Given the description of an element on the screen output the (x, y) to click on. 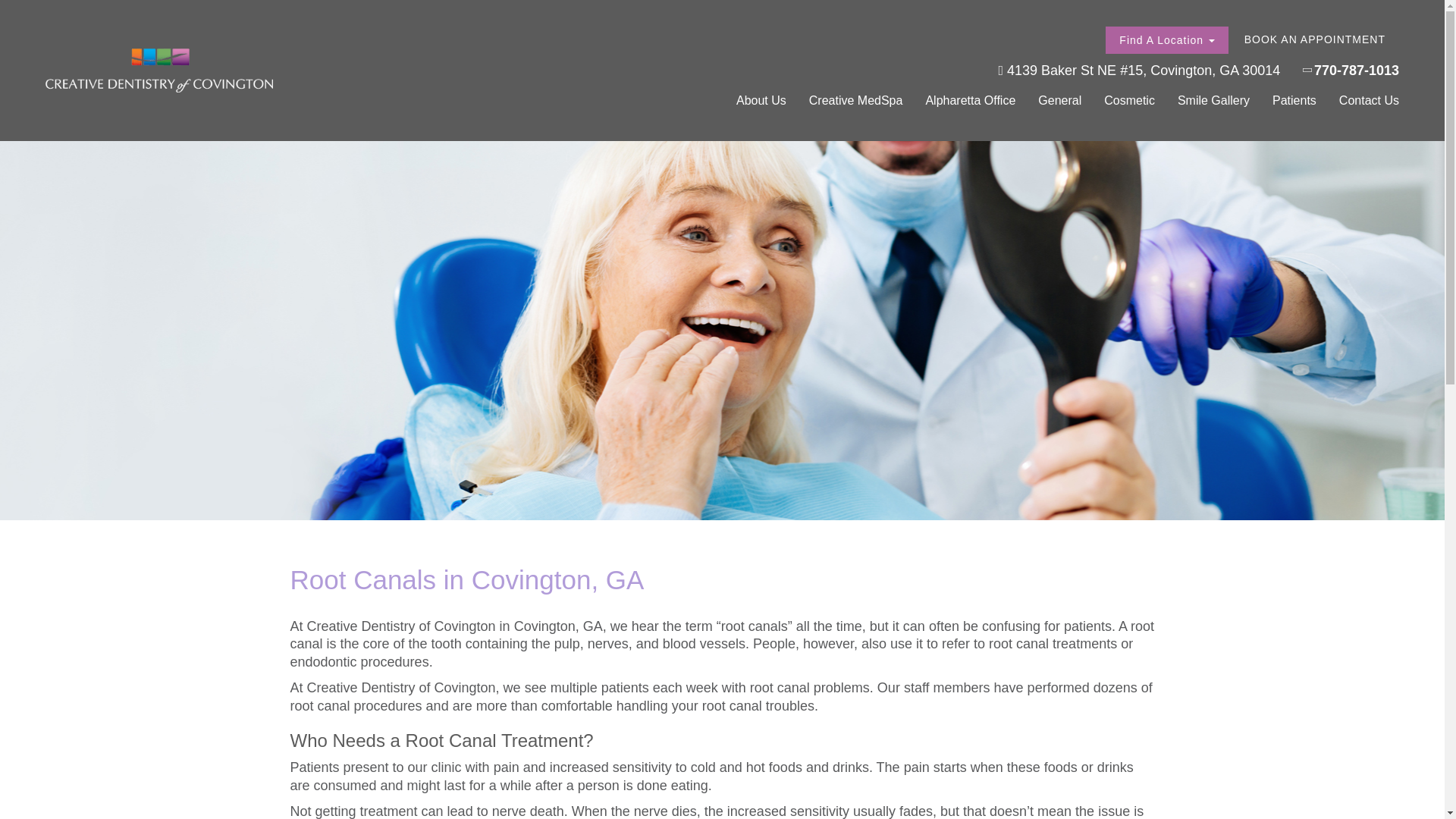
Find A Location (1166, 40)
770-787-1013 (1351, 73)
Cosmetic (1128, 100)
Alpharetta Office (969, 100)
About Us (761, 100)
Creative MedSpa (855, 100)
Creative Dentistry of Covington (159, 70)
BOOK AN APPOINTMENT (1314, 39)
General (1059, 100)
